Given the description of an element on the screen output the (x, y) to click on. 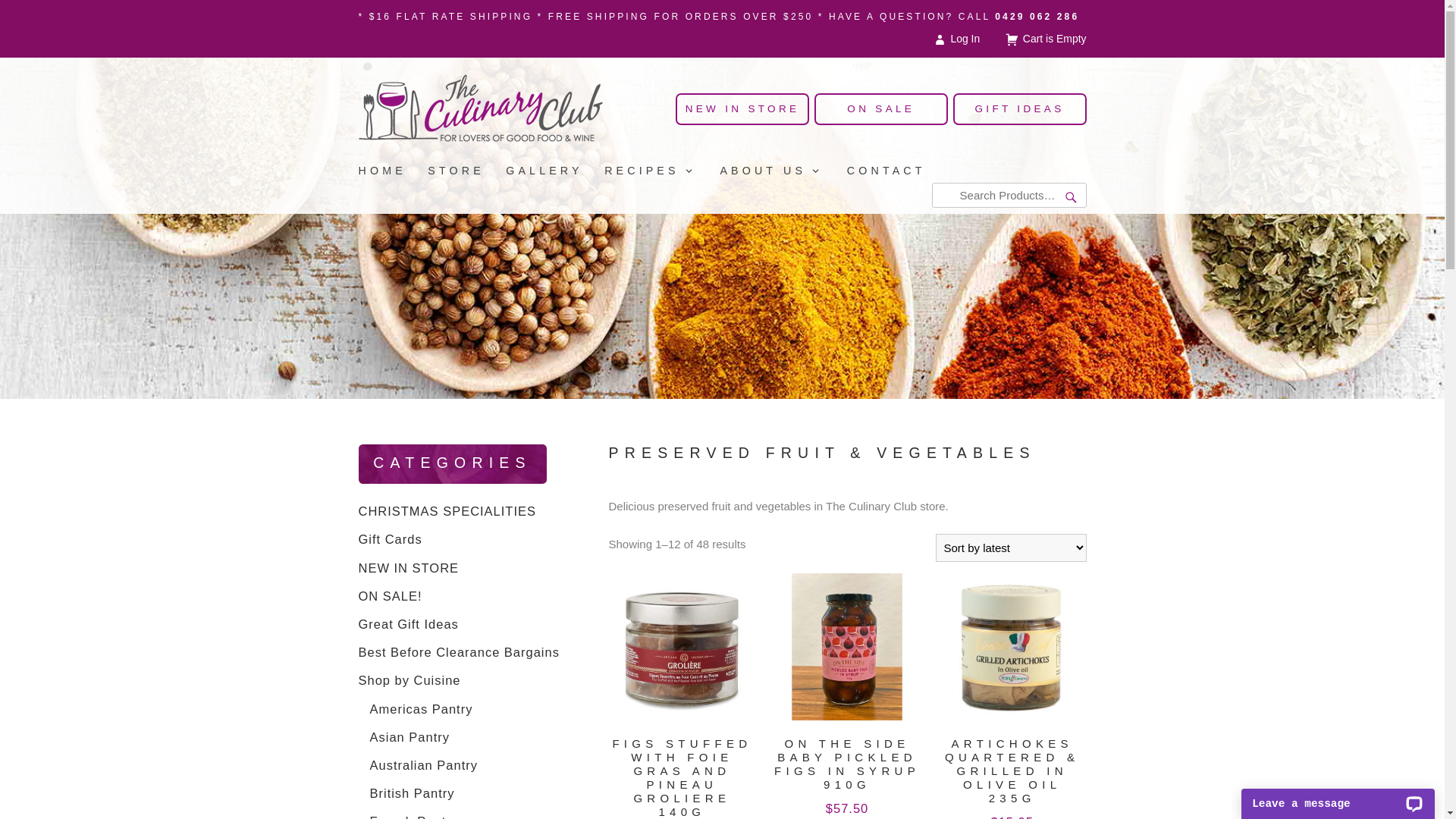
RECIPES Element type: text (661, 170)
STORE Element type: text (466, 170)
ABOUT US Element type: text (782, 170)
Americas Pantry Element type: text (421, 708)
0429 062 286 Element type: text (1036, 16)
Best Before Clearance Bargains Element type: text (457, 651)
British Pantry Element type: text (412, 793)
NEW IN STORE Element type: text (742, 109)
HOME Element type: text (392, 170)
Cart is Empty Element type: text (1045, 38)
Search Element type: hover (1071, 197)
CHRISTMAS SPECIALITIES Element type: text (446, 510)
Australian Pantry Element type: text (423, 764)
GALLERY Element type: text (554, 170)
Log In Element type: text (957, 38)
Gift Cards Element type: text (389, 539)
ON SALE Element type: text (880, 109)
Shop by Cuisine Element type: text (408, 680)
NEW IN STORE Element type: text (407, 567)
CONTACT Element type: text (897, 170)
Asian Pantry Element type: text (409, 736)
Great Gift Ideas Element type: text (407, 623)
GIFT IDEAS Element type: text (1018, 109)
ON SALE! Element type: text (389, 595)
